Given the description of an element on the screen output the (x, y) to click on. 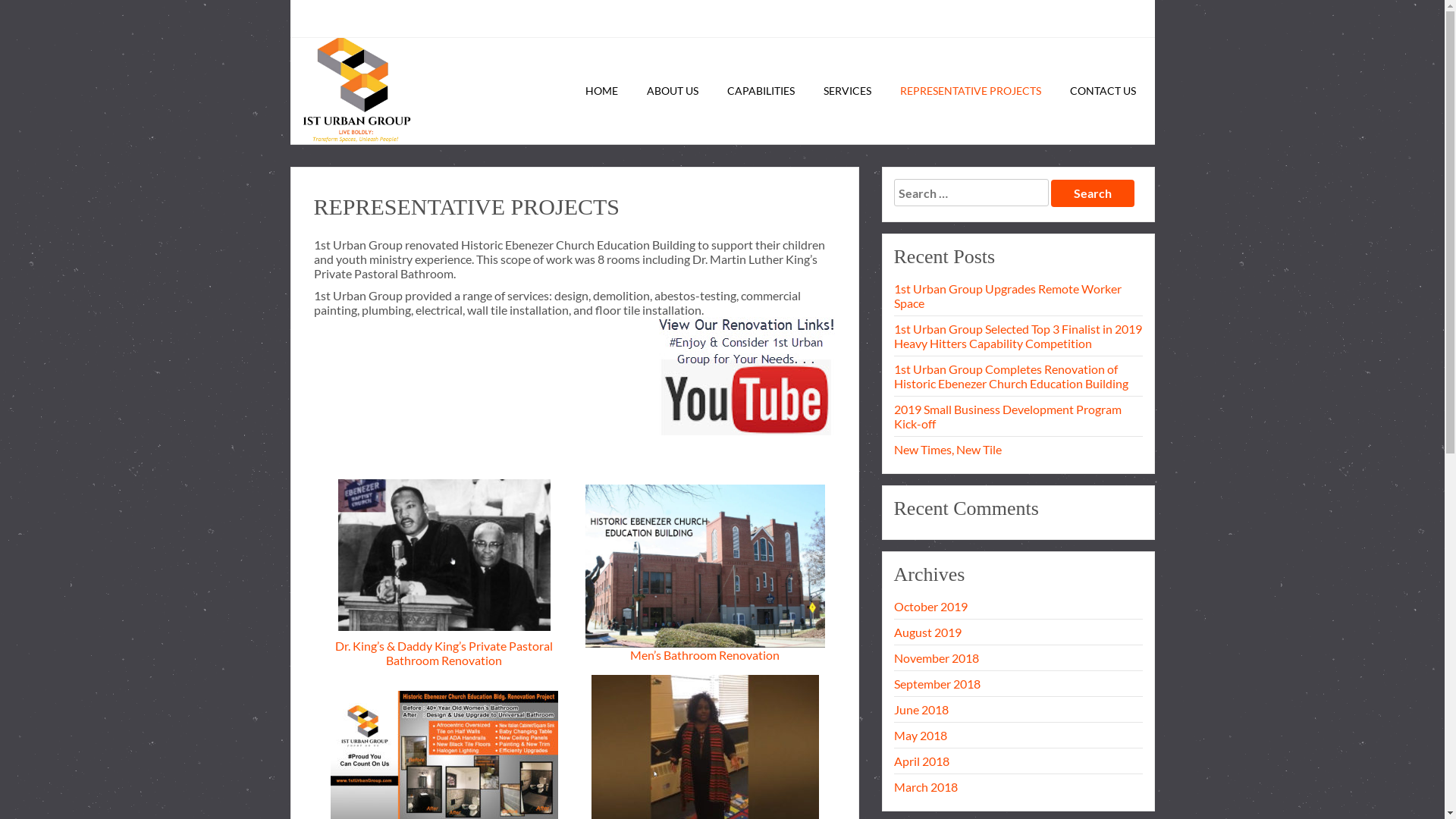
March 2018 Element type: text (1017, 786)
HOME Element type: text (601, 90)
April 2018 Element type: text (1017, 760)
CAPABILITIES Element type: text (759, 90)
SERVICES Element type: text (846, 90)
1st Urban Group Upgrades Remote Worker Space Element type: text (1017, 295)
August 2019 Element type: text (1017, 631)
New Times, New Tile Element type: text (1017, 449)
REPRESENTATIVE PROJECTS Element type: text (969, 90)
2019 Small Business Development Program Kick-off Element type: text (1017, 415)
October 2019 Element type: text (1017, 606)
November 2018 Element type: text (1017, 657)
May 2018 Element type: text (1017, 735)
September 2018 Element type: text (1017, 683)
ABOUT US Element type: text (671, 90)
Search Element type: text (1092, 192)
June 2018 Element type: text (1017, 709)
CONTACT US Element type: text (1101, 90)
